Given the description of an element on the screen output the (x, y) to click on. 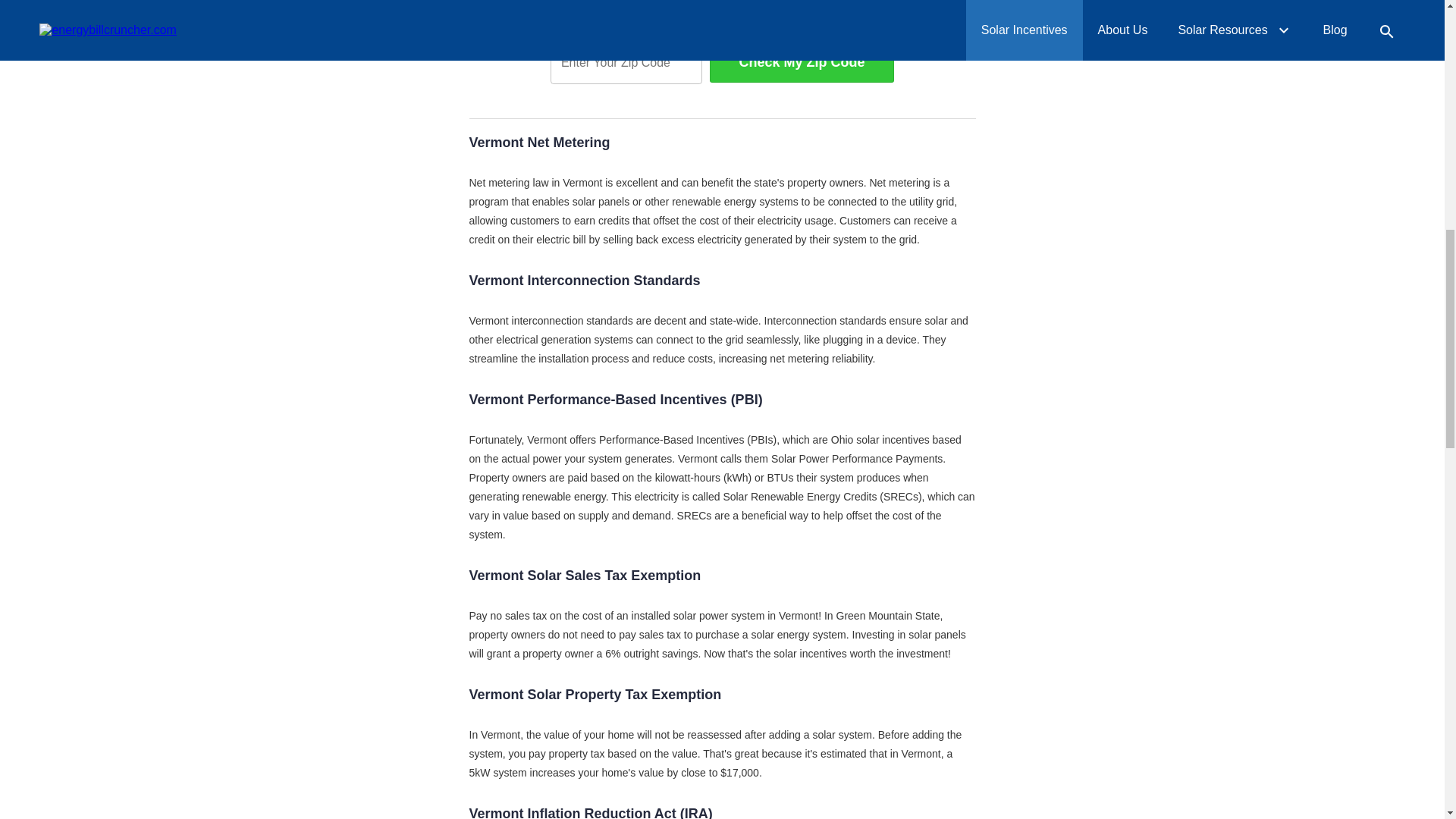
Check My Zip Code (801, 61)
